Given the description of an element on the screen output the (x, y) to click on. 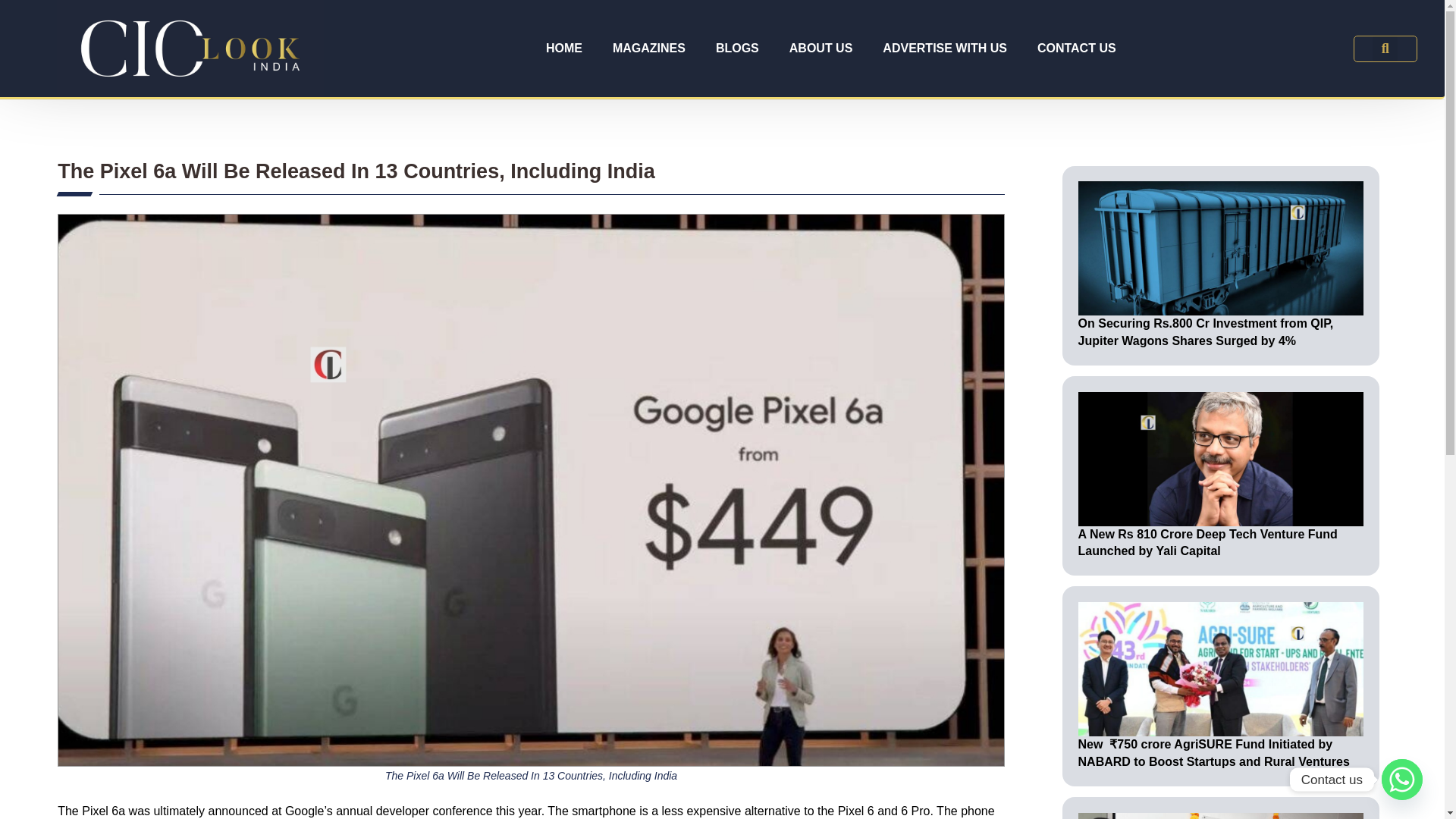
CONTACT US (1076, 48)
ADVERTISE WITH US (944, 48)
MAGAZINES (648, 48)
HOME (563, 48)
BLOGS (737, 48)
ABOUT US (820, 48)
